Given the description of an element on the screen output the (x, y) to click on. 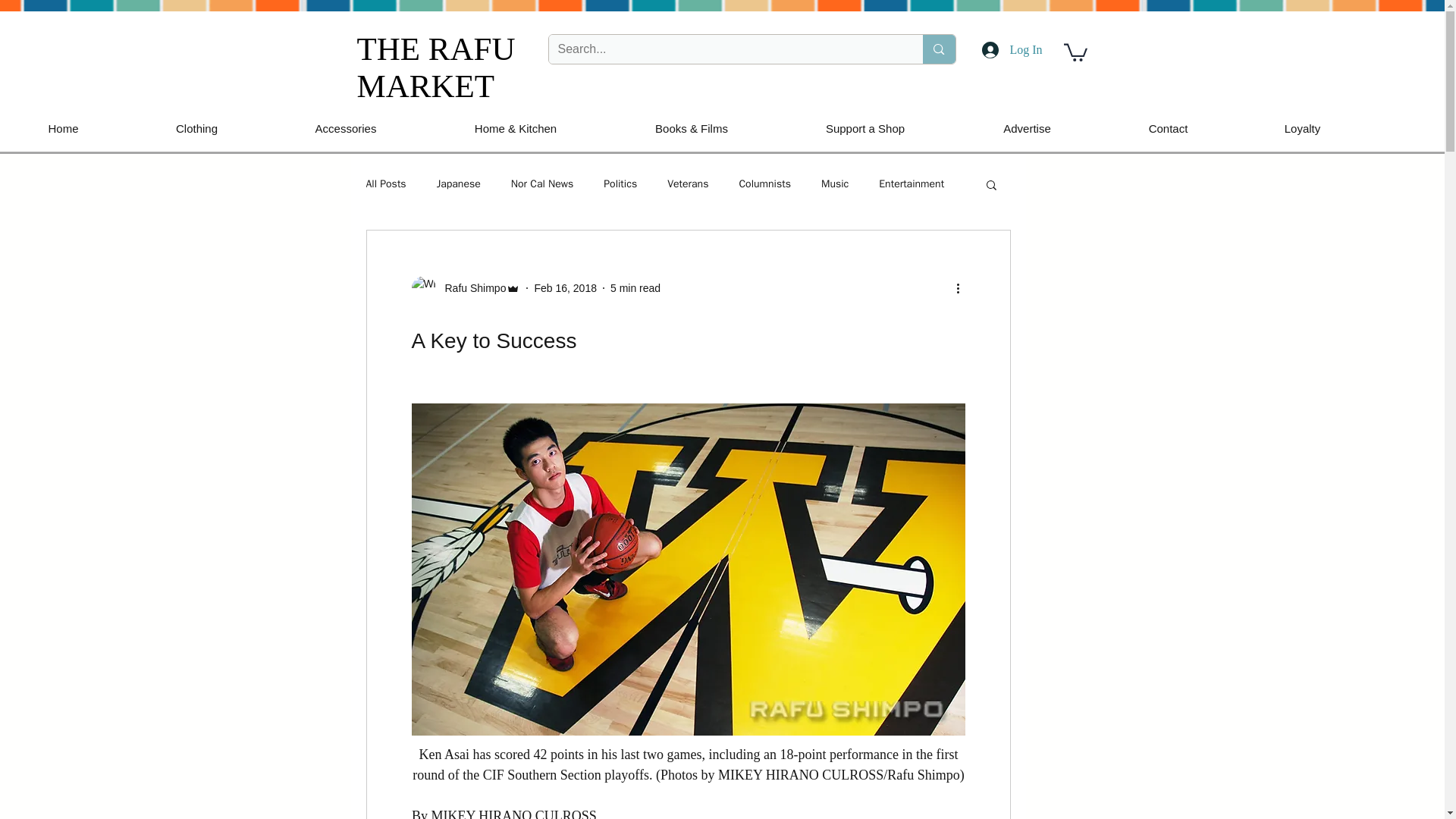
Politics (620, 183)
Entertainment (911, 183)
5 min read (635, 287)
Feb 16, 2018 (565, 287)
Home (63, 128)
Log In (1011, 49)
Contact (1168, 128)
Nor Cal News (542, 183)
Loyalty (1302, 128)
Advertise (1026, 128)
